Given the description of an element on the screen output the (x, y) to click on. 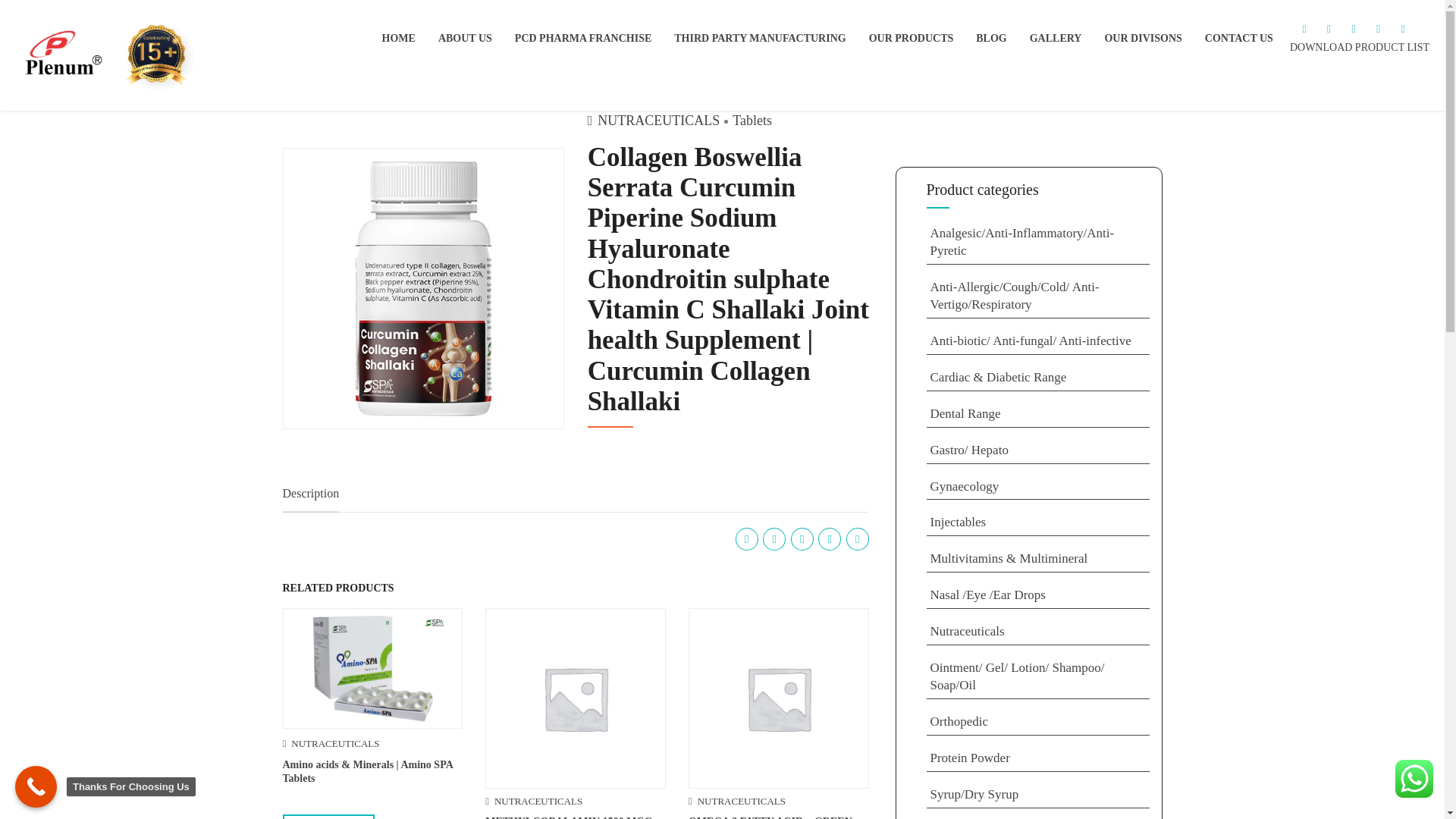
PCD PHARMA FRANCHISE (582, 37)
BLOG (990, 37)
ABOUT US (465, 37)
GALLERY (1055, 37)
THIRD PARTY MANUFACTURING (759, 37)
OUR PRODUCTS (911, 37)
DOWNLOAD PRODUCT LIST (1359, 46)
HOME (397, 37)
OUR DIVISONS (1141, 37)
